Given the description of an element on the screen output the (x, y) to click on. 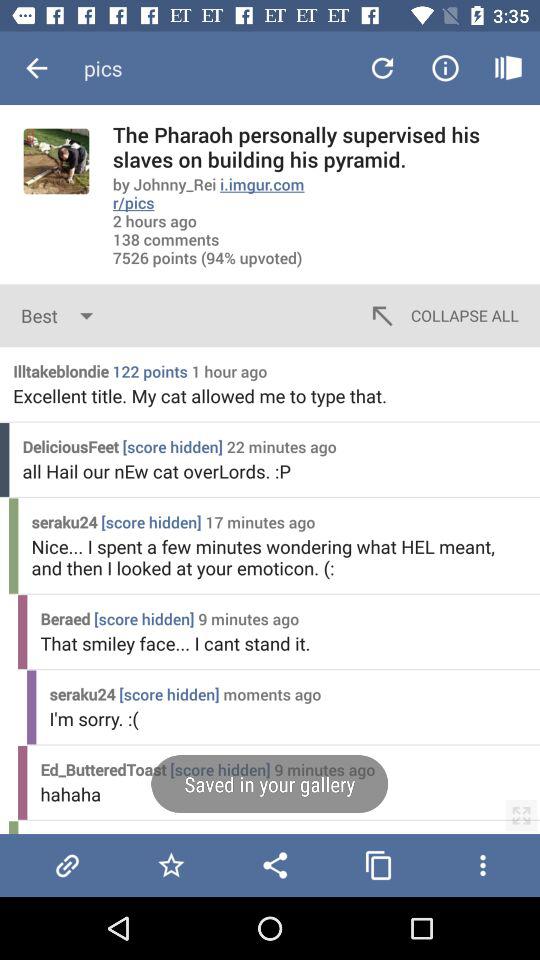
more options (482, 865)
